Given the description of an element on the screen output the (x, y) to click on. 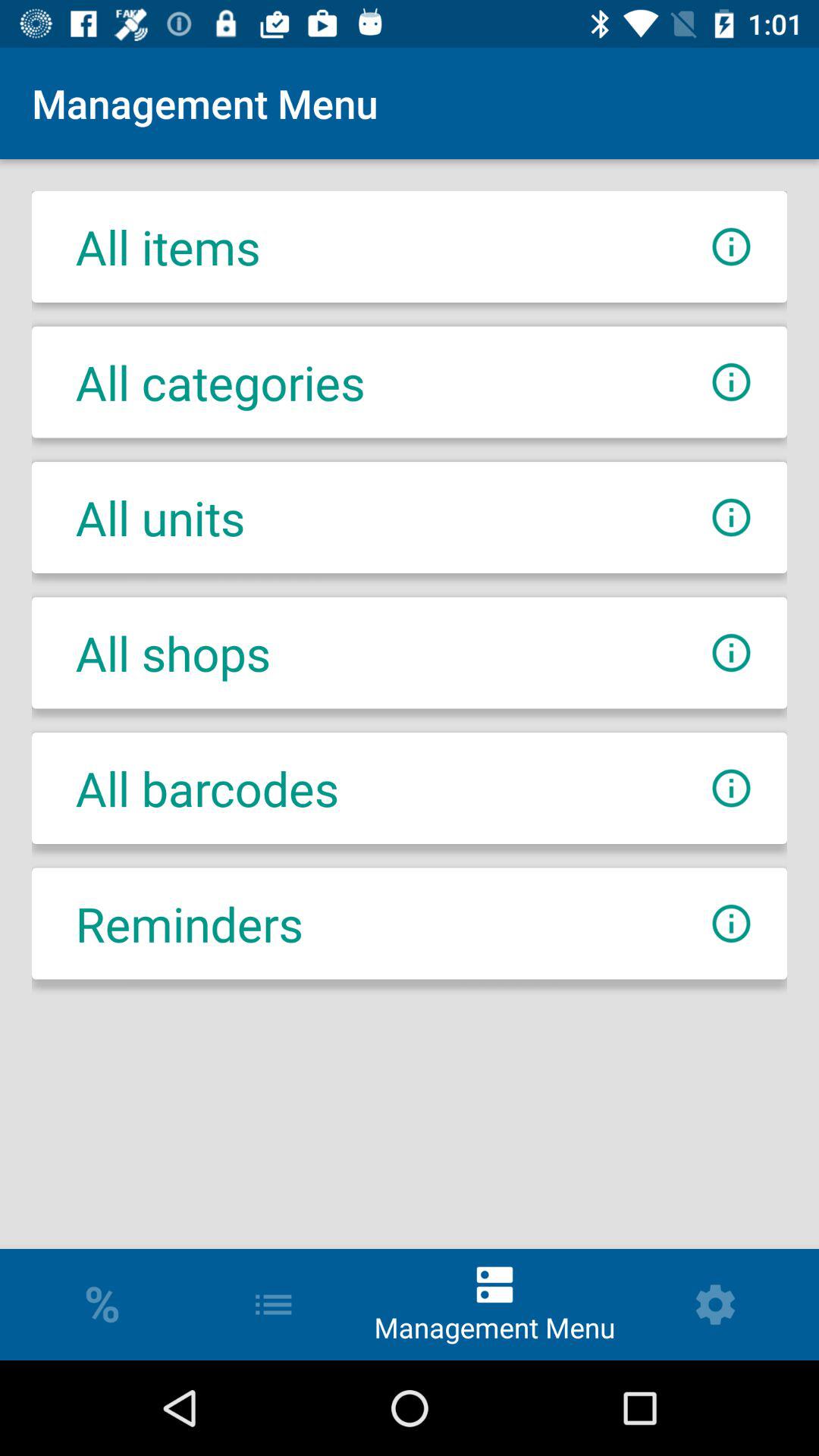
information on all categories button (731, 381)
